Given the description of an element on the screen output the (x, y) to click on. 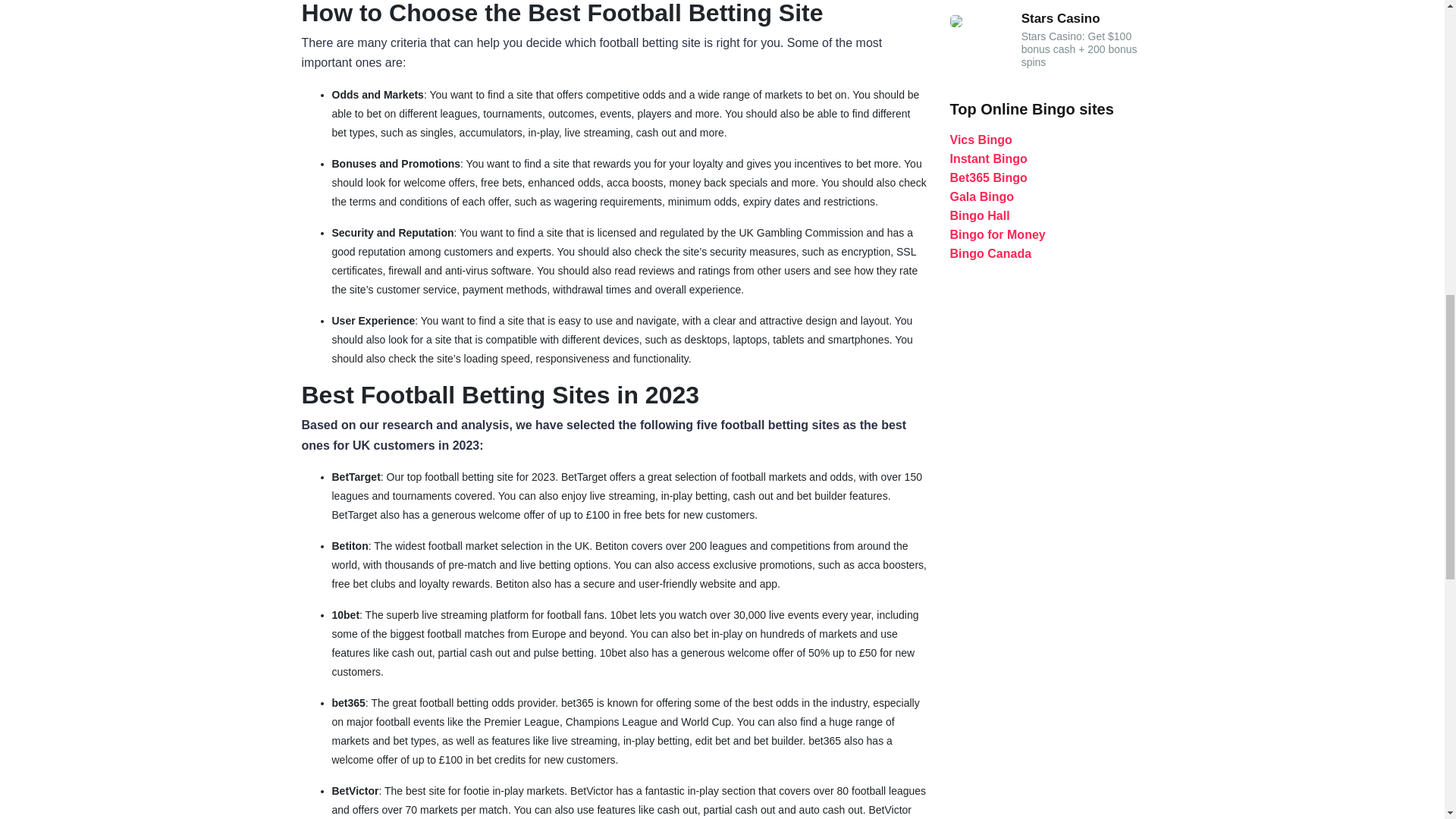
Gala Bingo (981, 196)
Bingo Hall (979, 215)
Bingo for Money (997, 234)
Bet365 Bingo (987, 177)
Instant Bingo (987, 158)
Bingo Canada (989, 253)
Vics Bingo (980, 139)
